Given the description of an element on the screen output the (x, y) to click on. 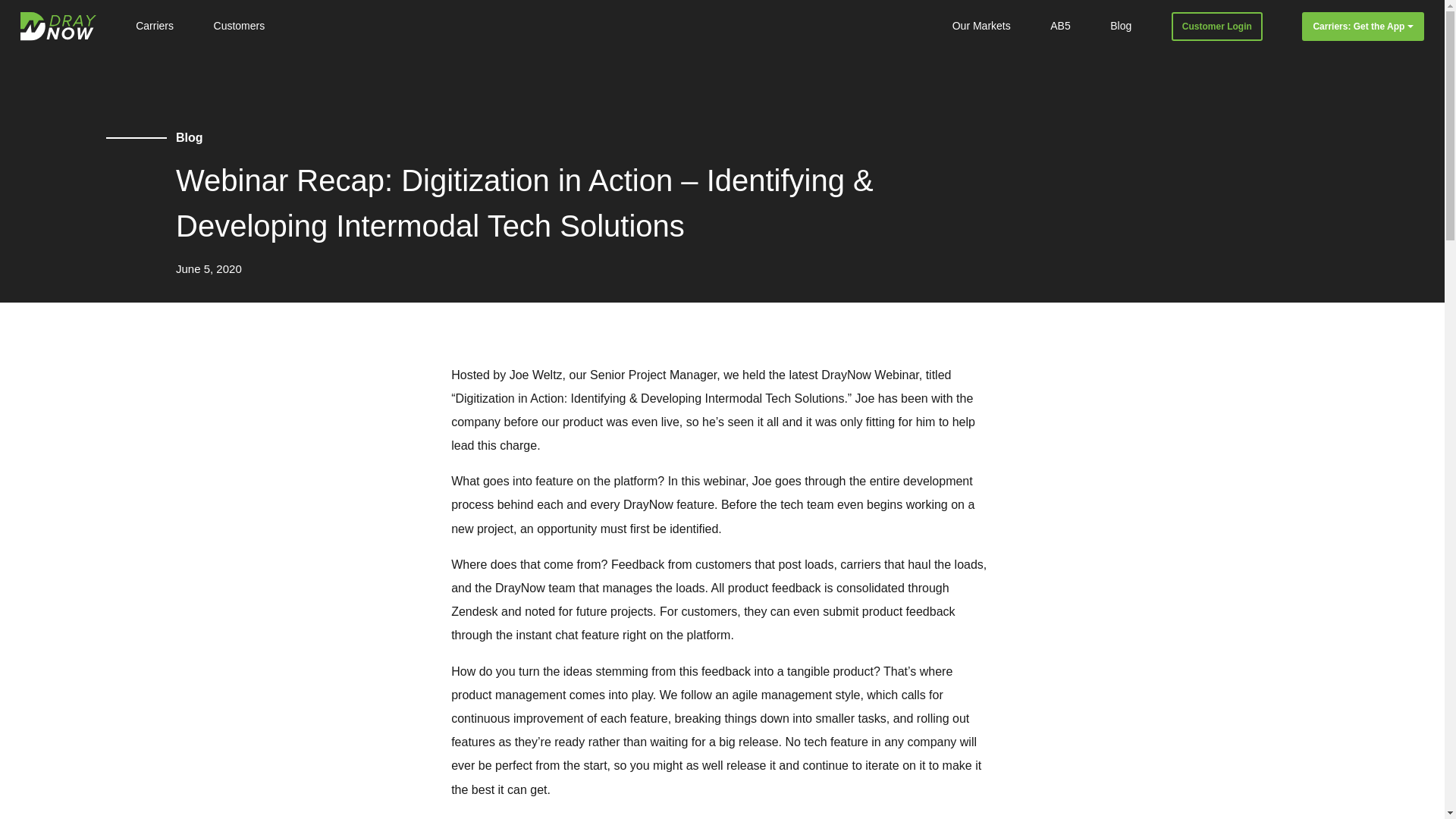
Blog (1120, 27)
Our Markets (981, 27)
Carriers (154, 27)
Customer Login (1217, 26)
AB5 (1059, 27)
Customers (239, 27)
